Given the description of an element on the screen output the (x, y) to click on. 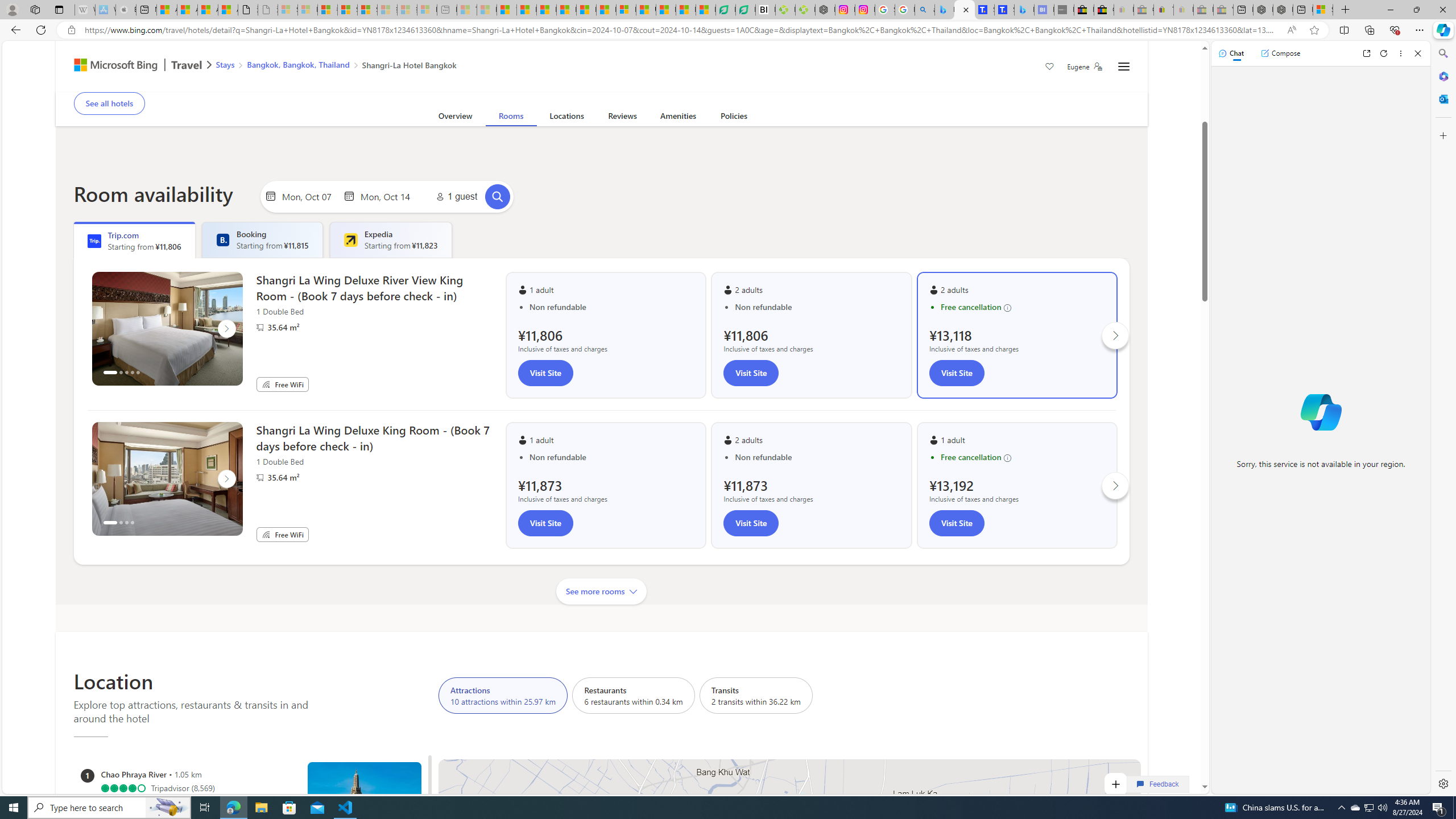
Zoom in (1114, 784)
Policies (733, 118)
Transits 2 transits within 36.22 km (755, 695)
Safety in Our Products - Google Safety Center (884, 9)
Class: msft-travel-logo (186, 64)
Start Date (309, 196)
Reviews (621, 118)
TripDotCom (94, 241)
Valet parking (451, 84)
